Given the description of an element on the screen output the (x, y) to click on. 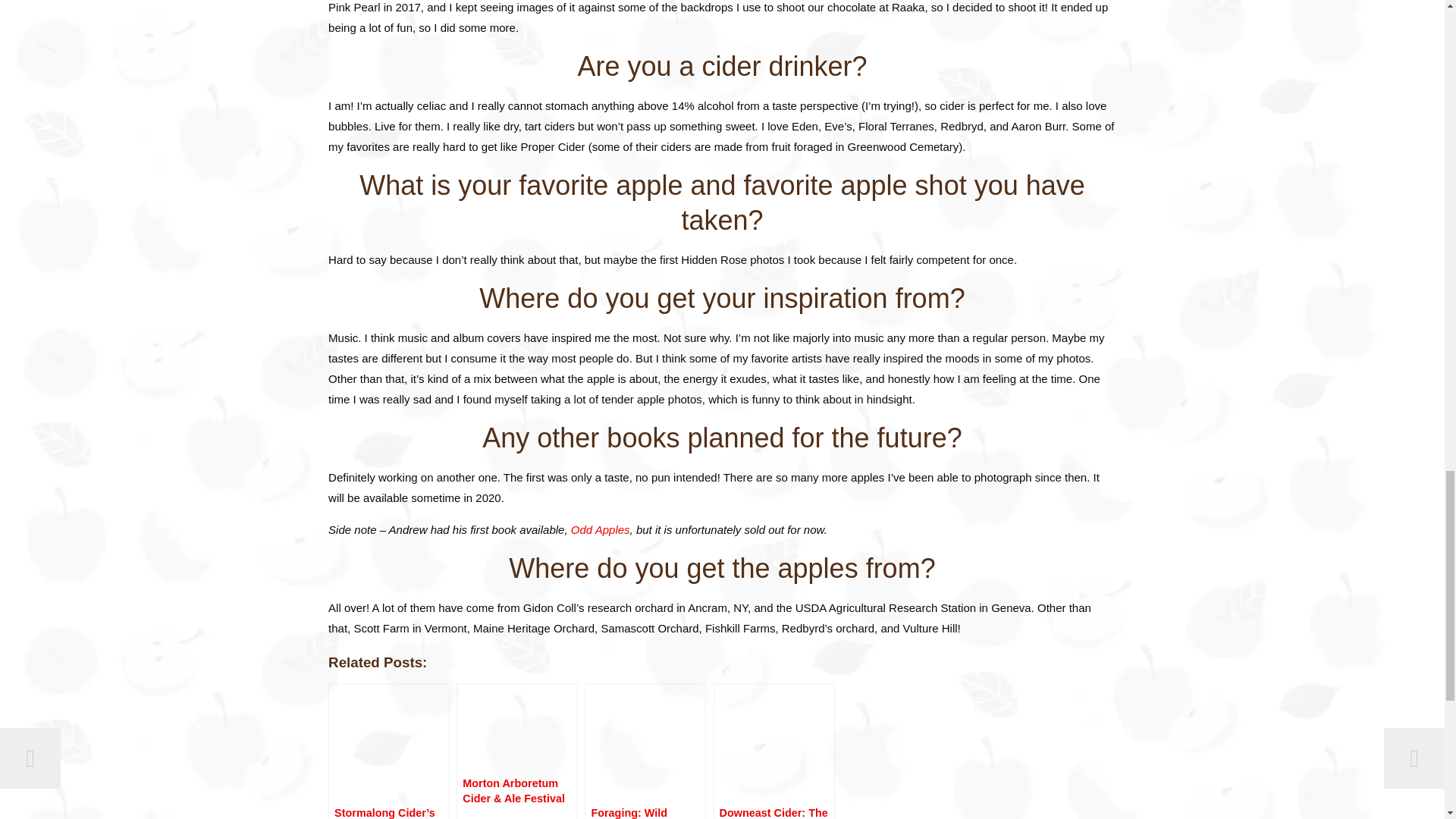
Downeast Cider: The Way It Should Be (773, 751)
Foraging: Wild Alchemy Cider (645, 751)
